Given the description of an element on the screen output the (x, y) to click on. 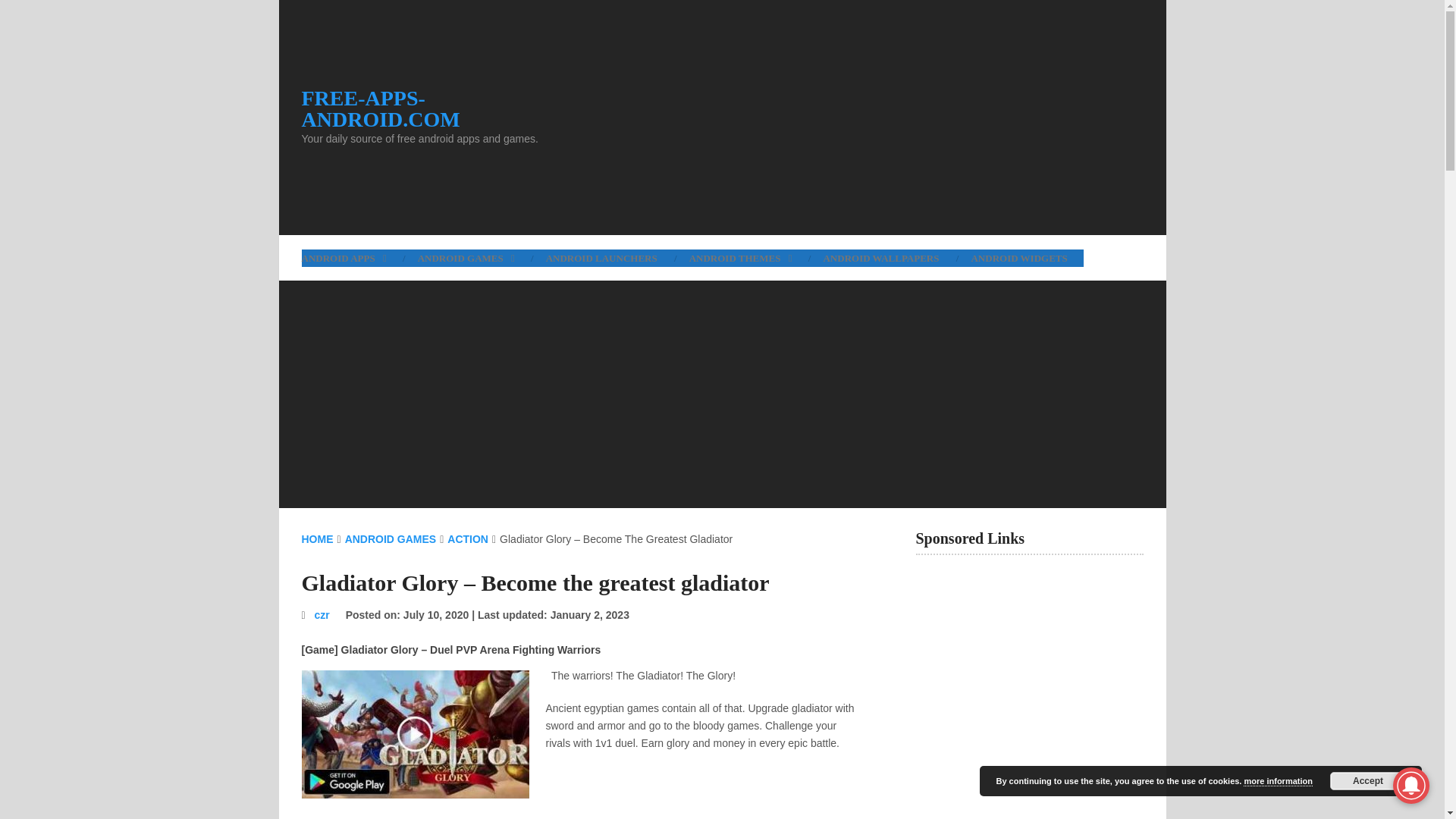
ANDROID GAMES (465, 257)
ANDROID APPS (351, 257)
Advertisement (862, 117)
Advertisement (578, 811)
FREE-APPS-ANDROID.COM (441, 108)
Posts by czr (322, 614)
